Given the description of an element on the screen output the (x, y) to click on. 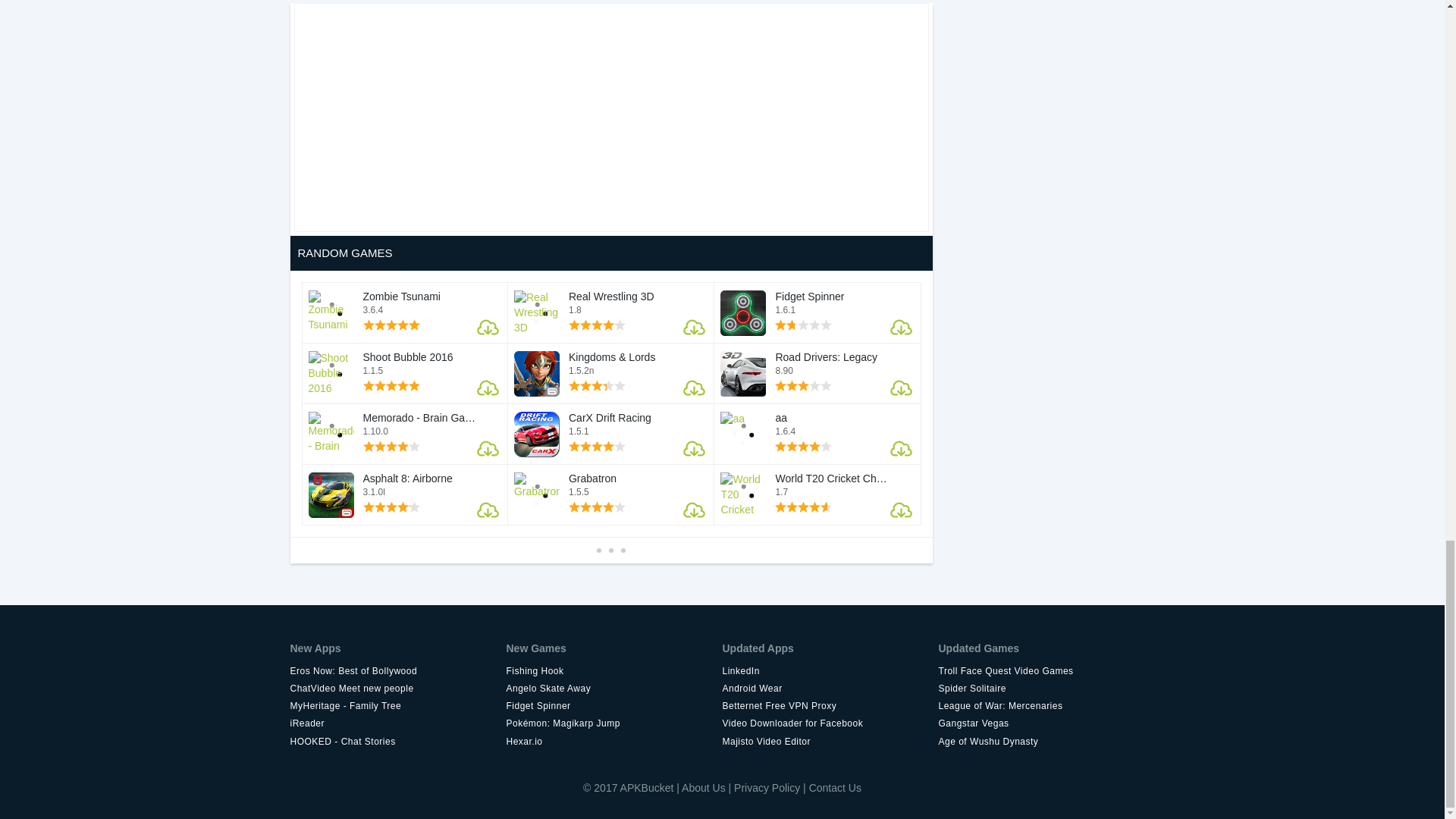
Video Downloader for Facebook (829, 723)
Android Wear (829, 688)
Majisto Video Editor (829, 741)
ChatVideo Meet new people (397, 688)
Angelo Skate Away (614, 688)
Hexar.io (614, 741)
Betternet Free VPN Proxy (829, 706)
Advertisement (610, 117)
Fishing Hook (614, 671)
Eros Now: Best of Bollywood (397, 671)
MyHeritage - Family Tree (397, 706)
HOOKED - Chat Stories (397, 741)
iReader (397, 723)
LinkedIn (829, 671)
VidMate (1046, 671)
